Given the description of an element on the screen output the (x, y) to click on. 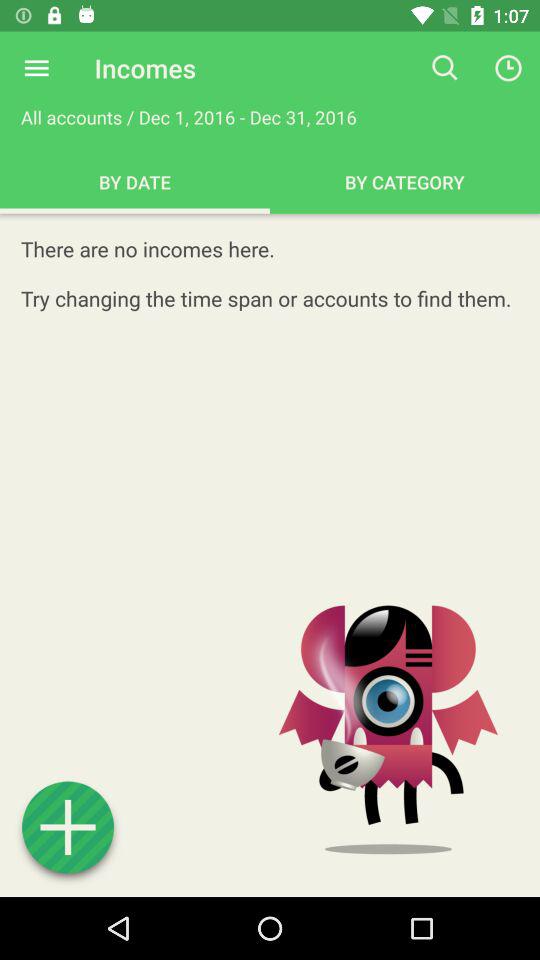
launch the icon next to all accounts dec item (444, 67)
